Given the description of an element on the screen output the (x, y) to click on. 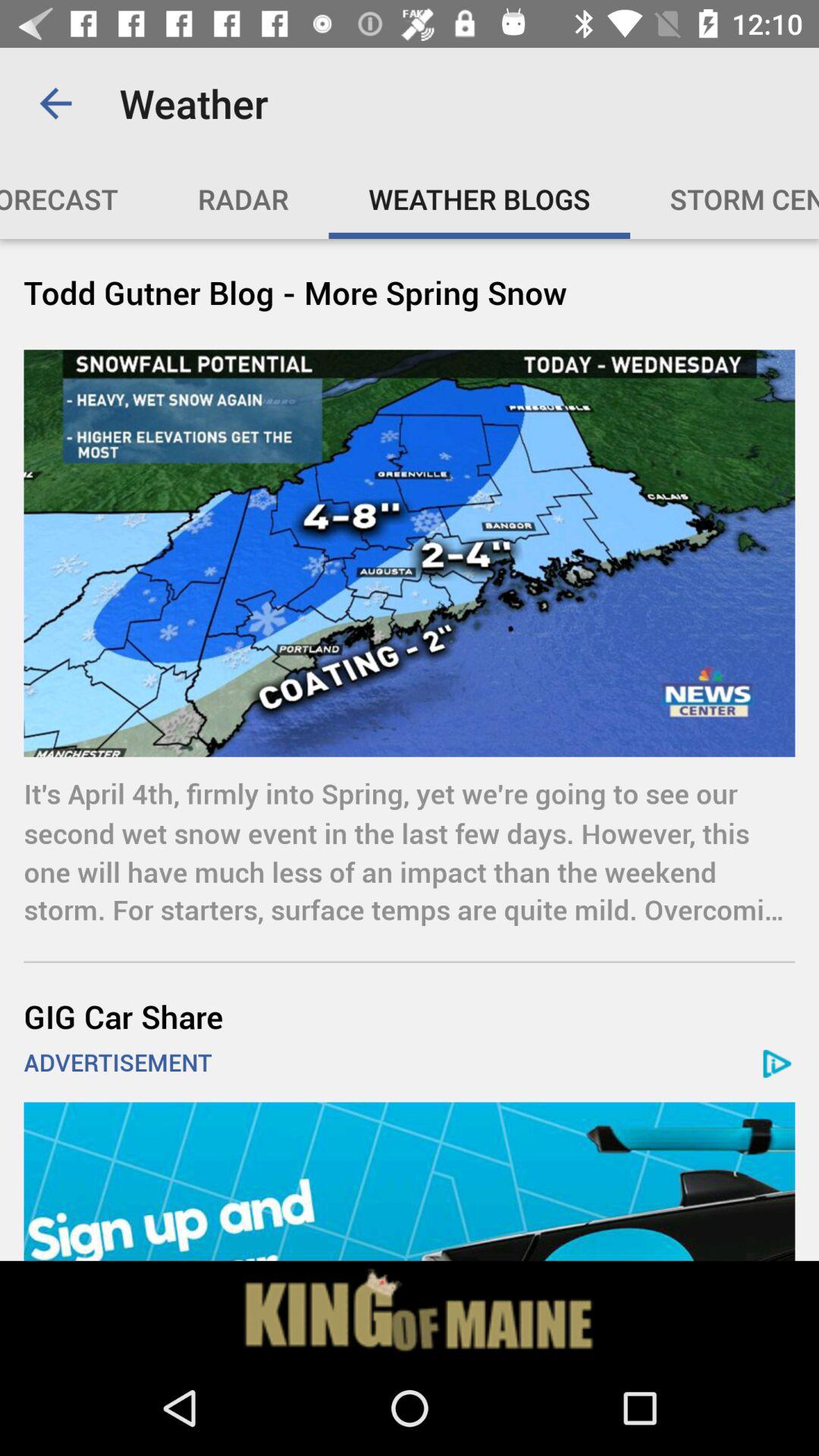
view map (409, 1181)
